Given the description of an element on the screen output the (x, y) to click on. 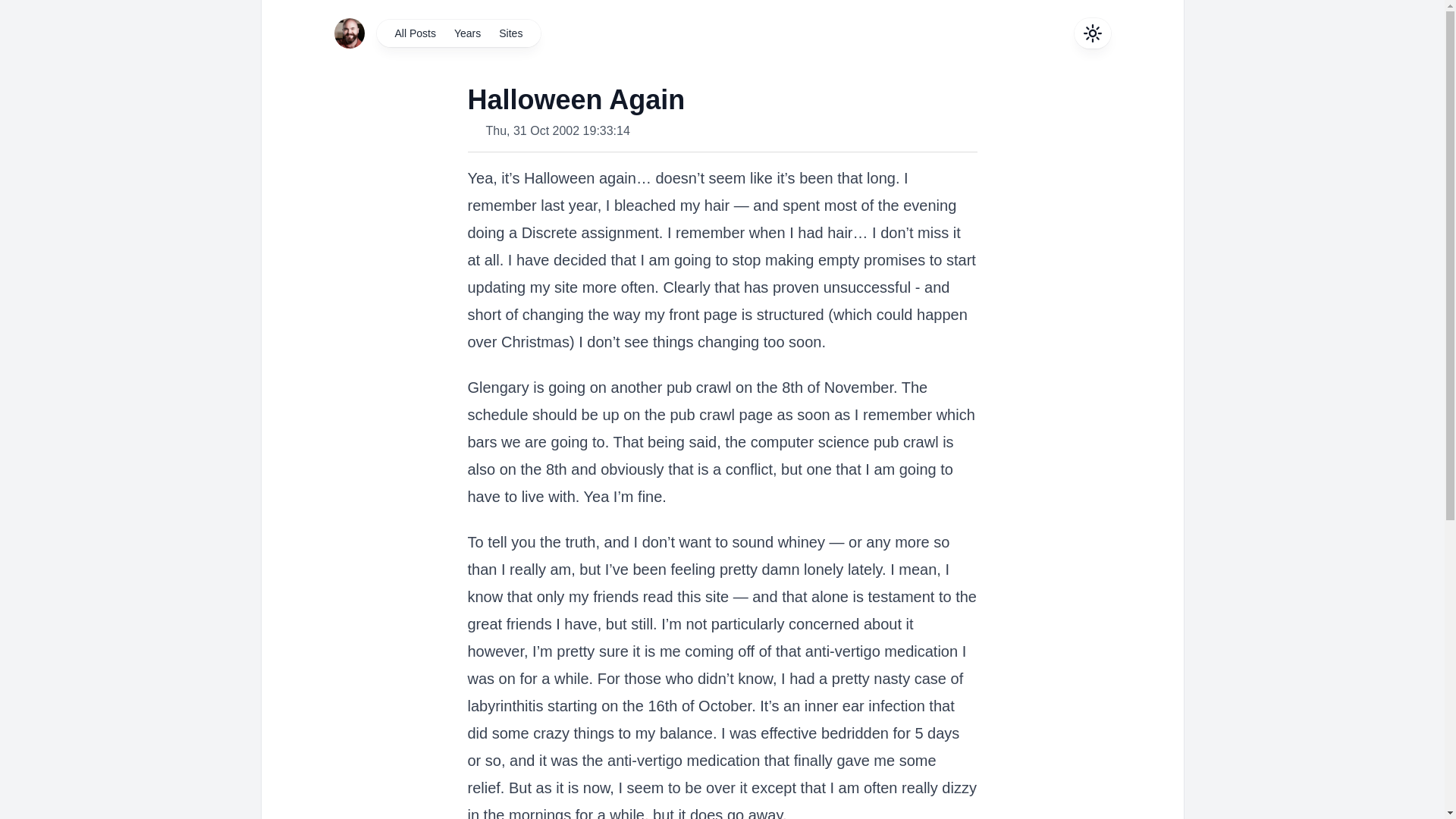
All Posts (414, 32)
Years (467, 32)
Sites (510, 32)
